Given the description of an element on the screen output the (x, y) to click on. 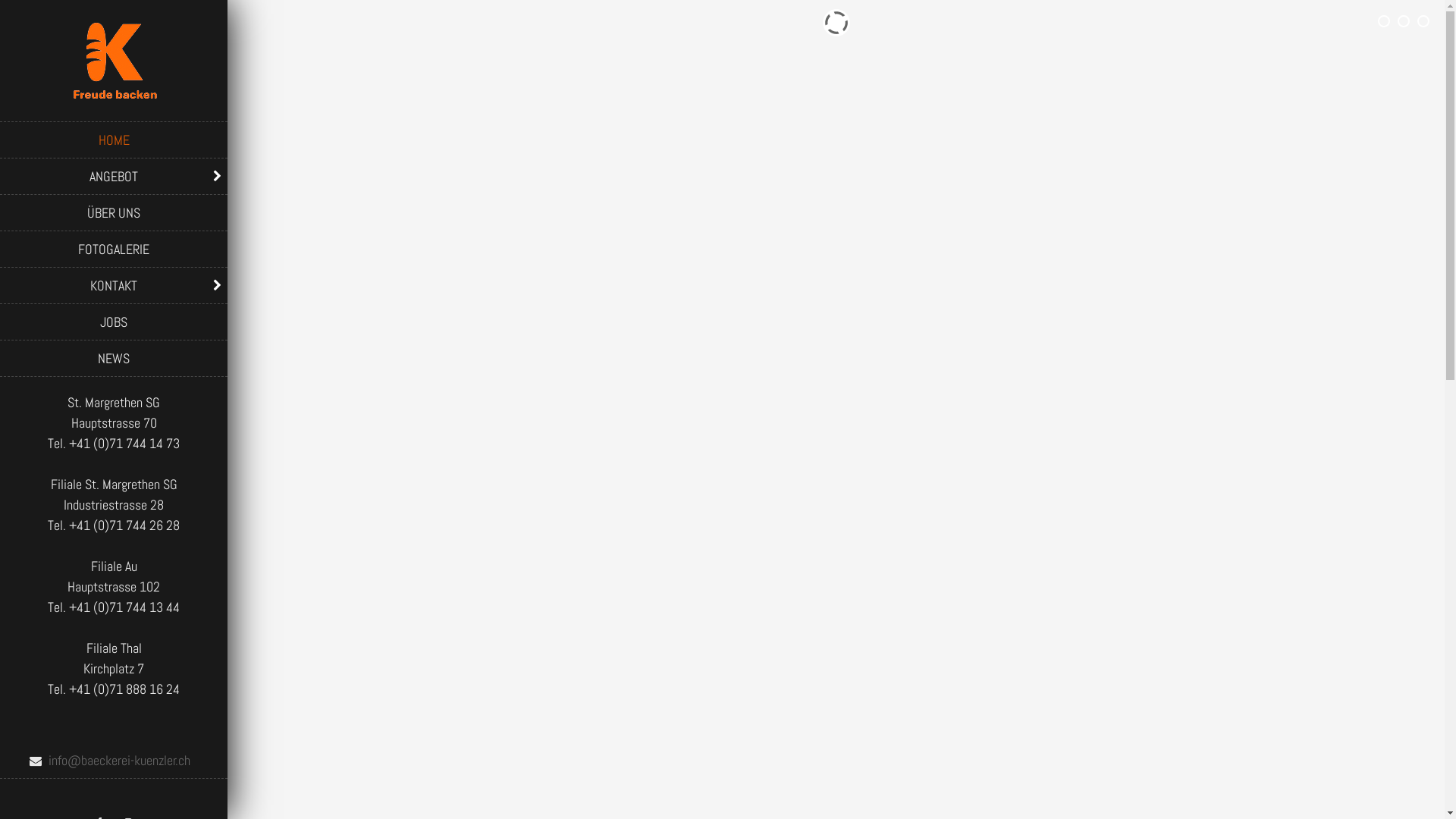
HOME Element type: text (113, 139)
FOTOGALERIE Element type: text (113, 248)
ANGEBOT Element type: text (113, 175)
info@baeckerei-kuenzler.ch Element type: text (113, 759)
KONTAKT Element type: text (113, 284)
NEWS Element type: text (113, 357)
JOBS Element type: text (113, 321)
+41 (0)71 888 16 24 Element type: text (124, 688)
+41 (0)71 744 13 44 Element type: text (124, 606)
+41 (0)71 744 14 73 Element type: text (124, 442)
+41 (0)71 744 26 28 Element type: text (124, 524)
